Given the description of an element on the screen output the (x, y) to click on. 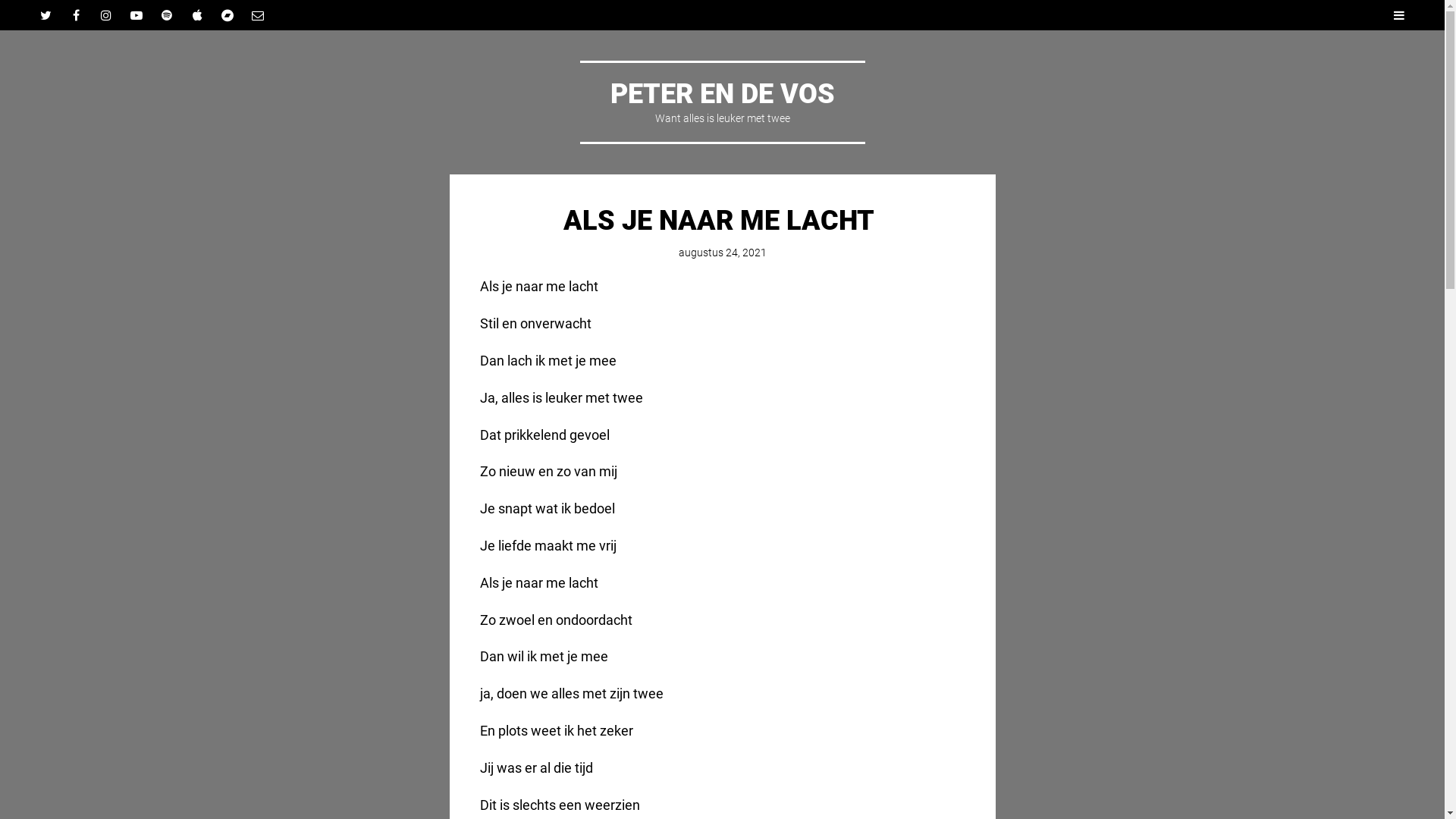
PETER EN DE VOS Element type: text (721, 93)
Facebook Element type: text (75, 15)
Instagram Element type: text (106, 15)
Twitter Element type: text (45, 15)
Email Element type: text (257, 15)
Spotify Element type: text (166, 15)
iTunes Element type: text (197, 15)
Bandcamp Element type: text (227, 15)
augustus 24, 2021 Element type: text (721, 252)
YouTube Element type: text (136, 15)
